Given the description of an element on the screen output the (x, y) to click on. 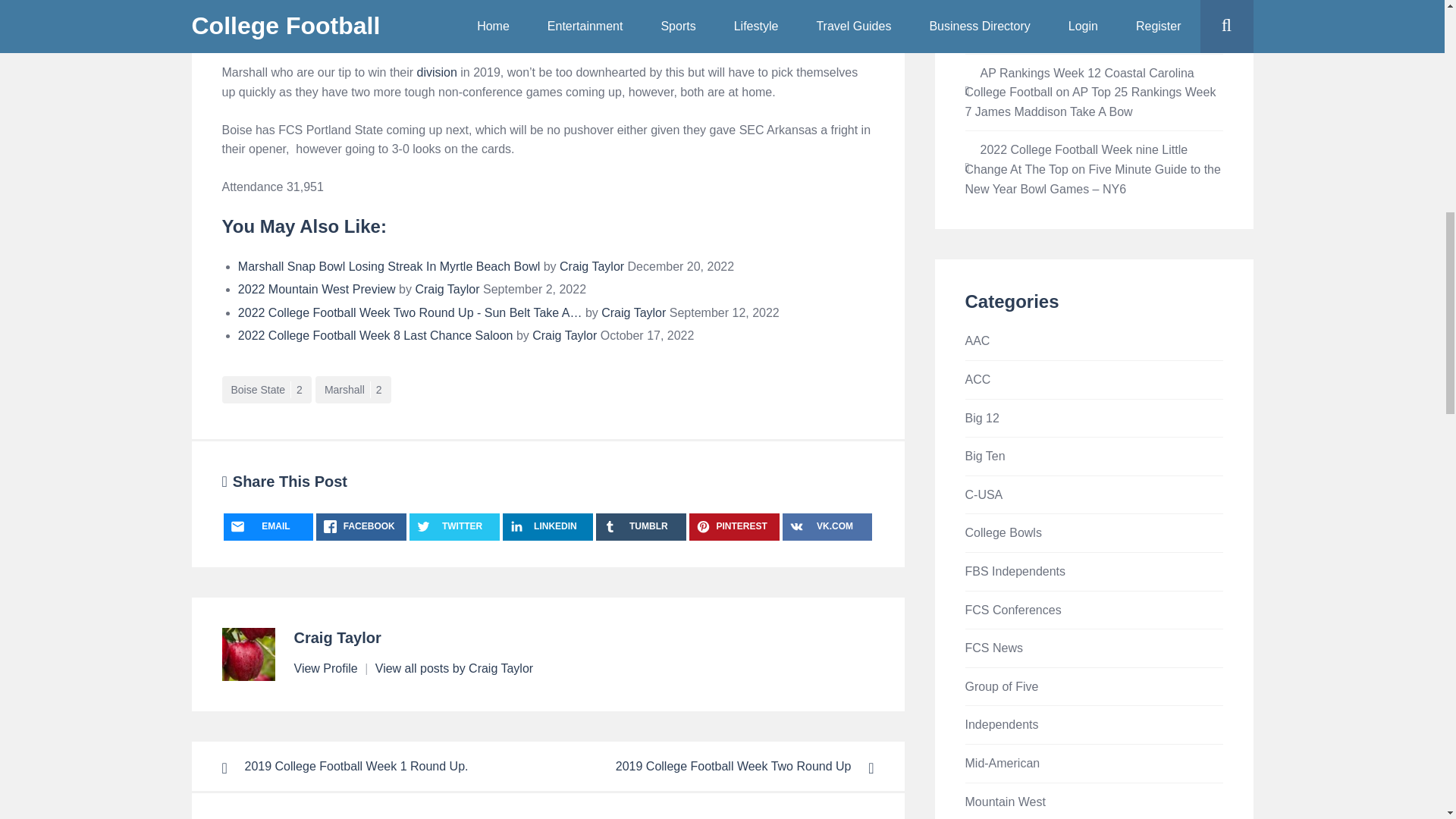
division (436, 72)
